Given the description of an element on the screen output the (x, y) to click on. 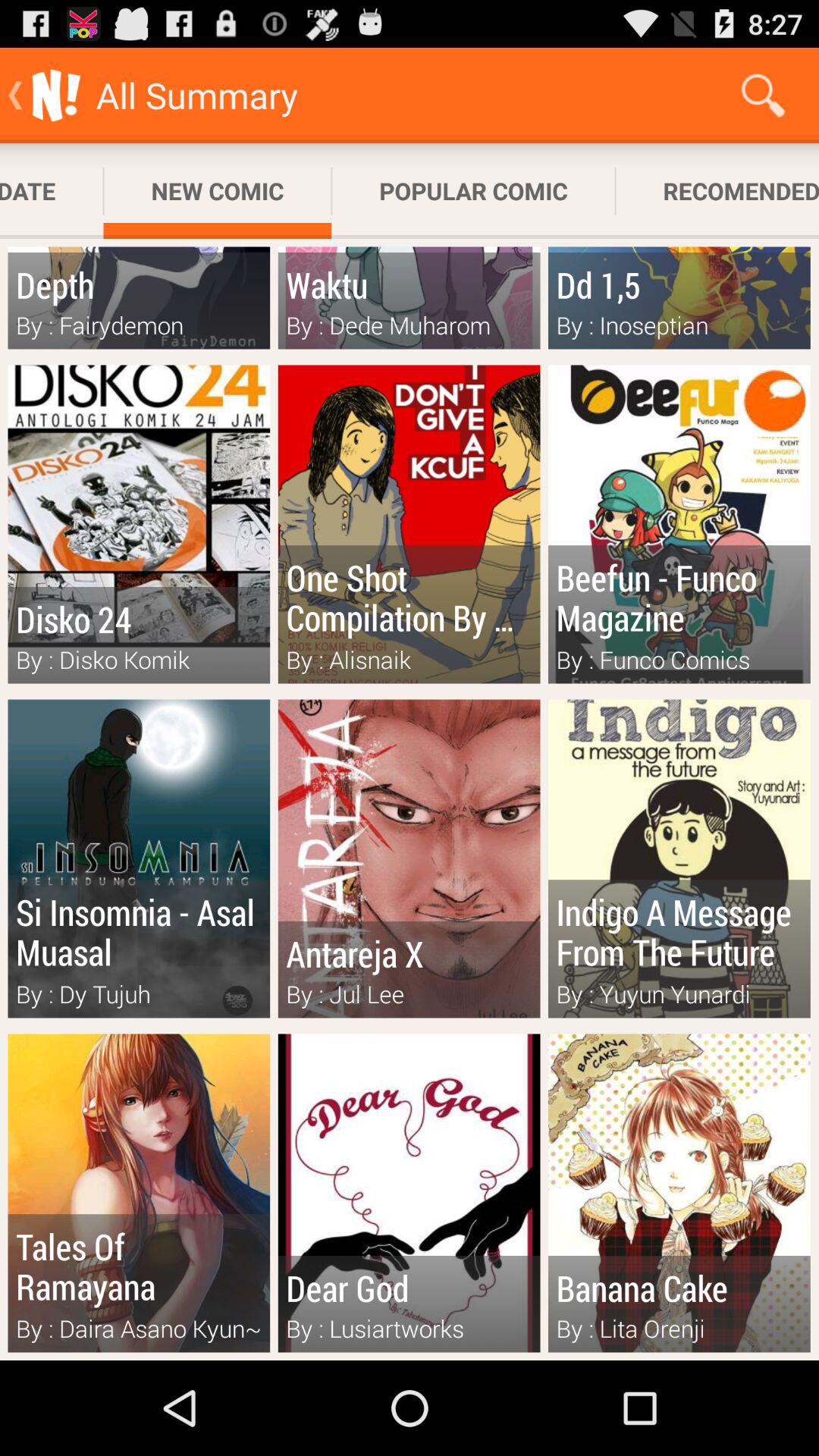
turn off the icon next to subscribed update (217, 190)
